Given the description of an element on the screen output the (x, y) to click on. 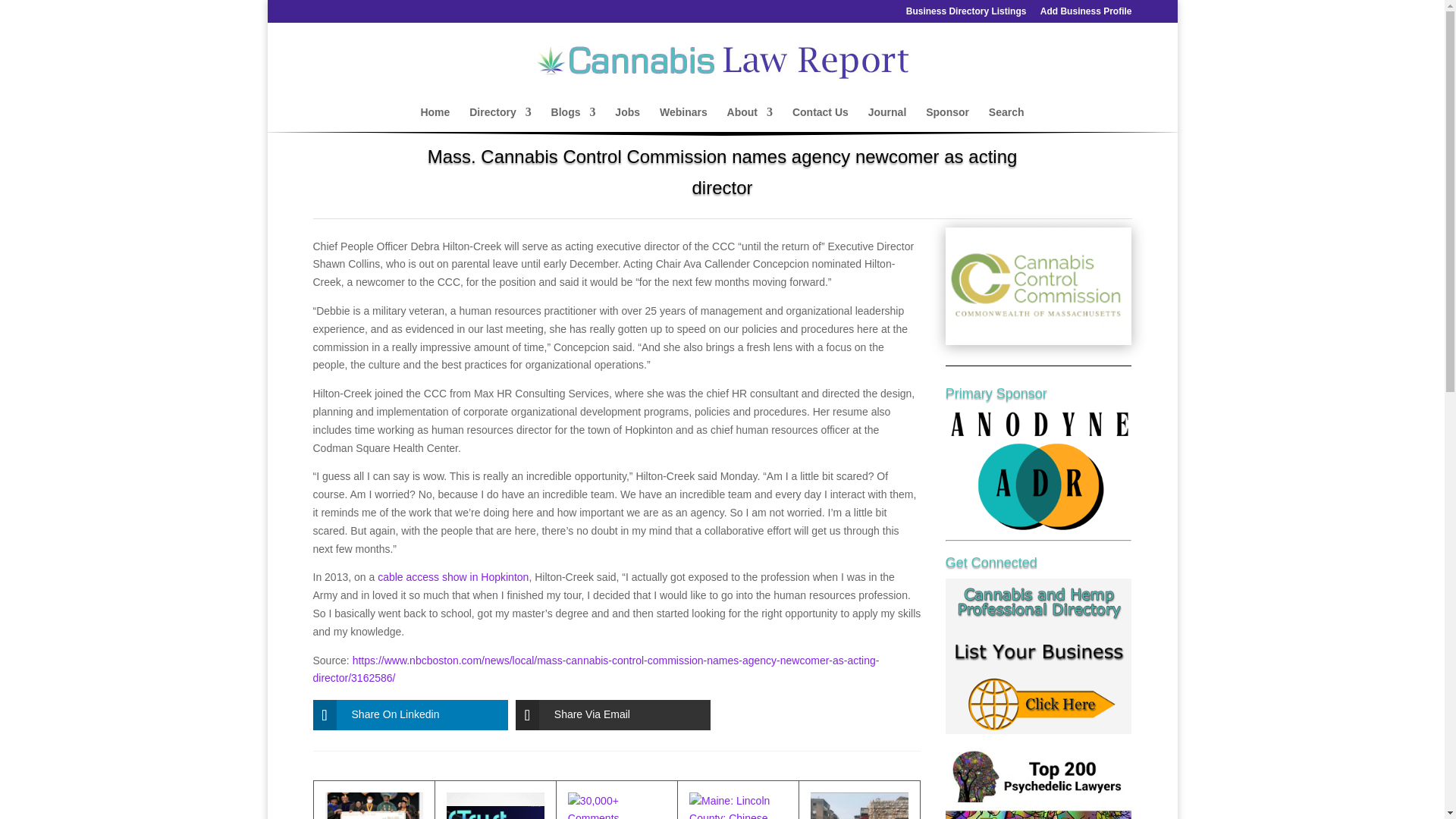
Blogs (573, 119)
Directory (499, 119)
Business Directory Listings (965, 14)
Home (434, 119)
Screenshot 2023-10-18 at 4.18.35 pm (1038, 285)
Add Business Profile (1086, 14)
